Given the description of an element on the screen output the (x, y) to click on. 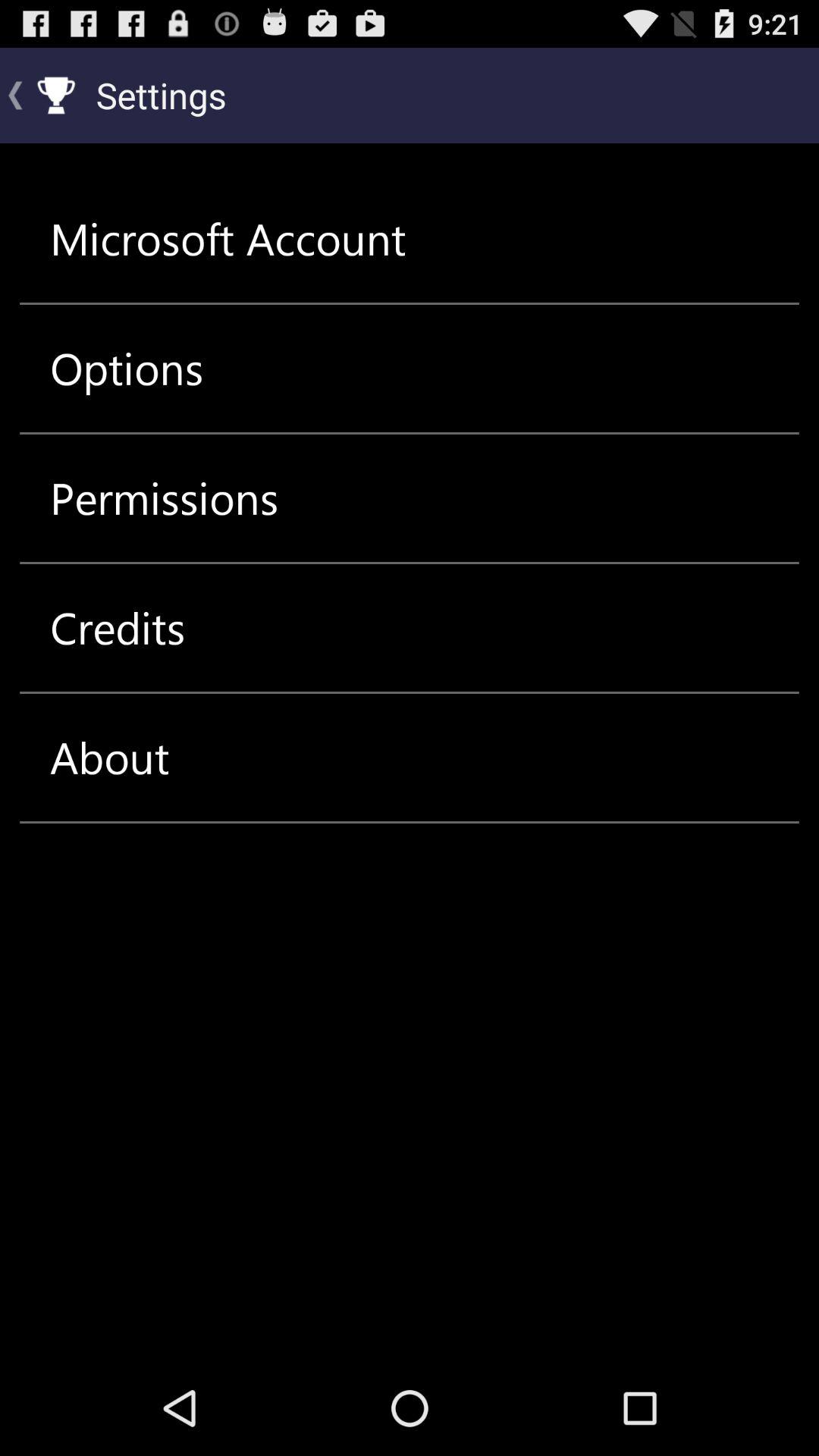
tap item below the permissions (117, 627)
